Given the description of an element on the screen output the (x, y) to click on. 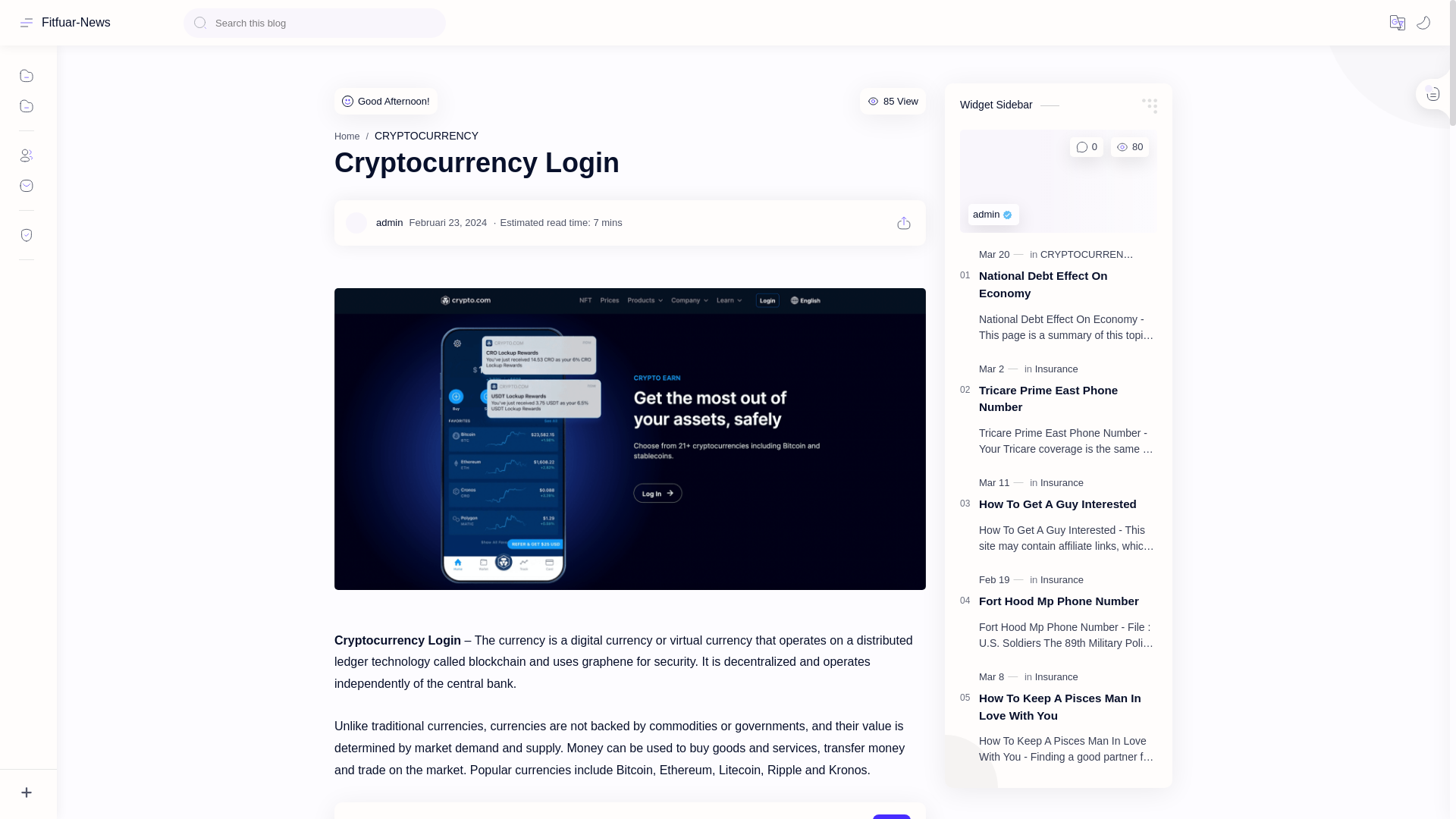
Published: Maret 20, 2024 (1002, 254)
Published: Maret 11, 2024 (1002, 482)
Published: Februari 23, 2024 (447, 222)
Home (346, 136)
Published: Maret 2, 2024 (1000, 368)
CRYPTOCURRENCY (426, 135)
Fitfuar-News (76, 22)
Published: Maret 8, 2024 (1000, 676)
Published: Februari 19, 2024 (1002, 580)
